Given the description of an element on the screen output the (x, y) to click on. 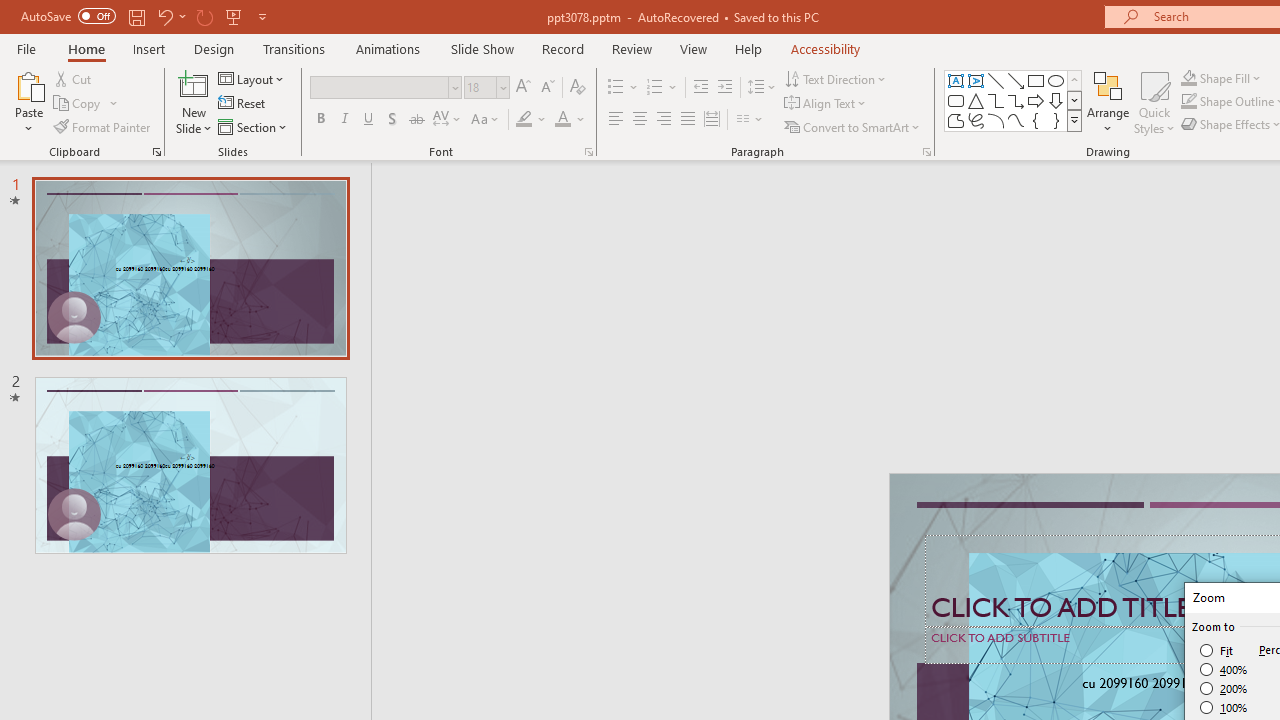
Text Highlight Color Yellow (524, 119)
Arrange (1108, 102)
Line Spacing (762, 87)
Shape Outline Green, Accent 1 (1188, 101)
Align Left (616, 119)
